Given the description of an element on the screen output the (x, y) to click on. 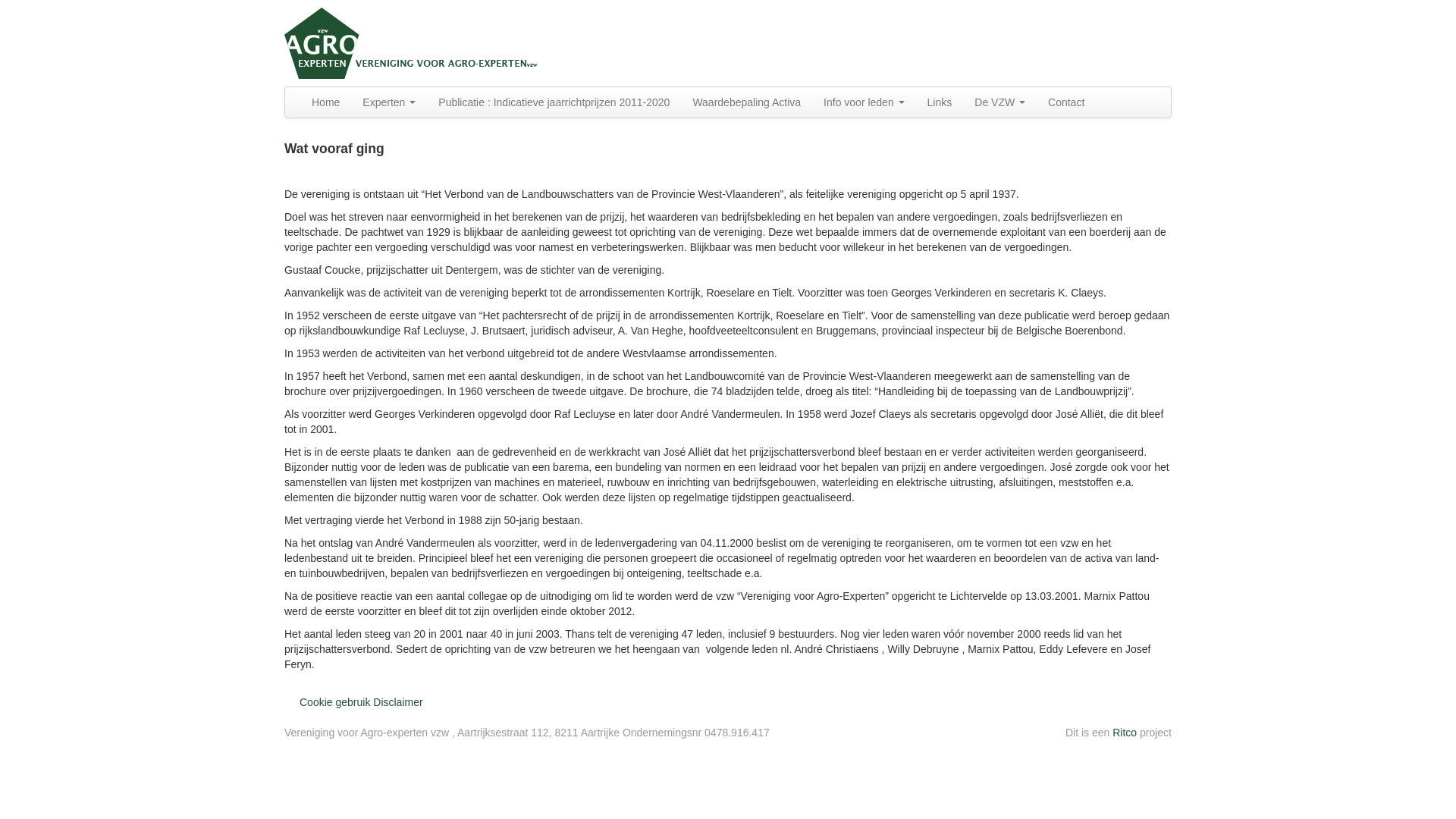
Disclaimer Element type: text (397, 702)
Publicatie : Indicatieve jaarrichtprijzen 2011-2020 Element type: text (553, 102)
De VZW Element type: text (999, 102)
Experten Element type: text (388, 102)
Waardebepaling Activa Element type: text (746, 102)
Ritco Element type: text (1124, 732)
Info voor leden Element type: text (864, 102)
Contact Element type: text (1065, 102)
Home Element type: text (325, 102)
Cookie gebruik Element type: text (334, 702)
Links Element type: text (939, 102)
AgroExperten Element type: hover (415, 40)
